Given the description of an element on the screen output the (x, y) to click on. 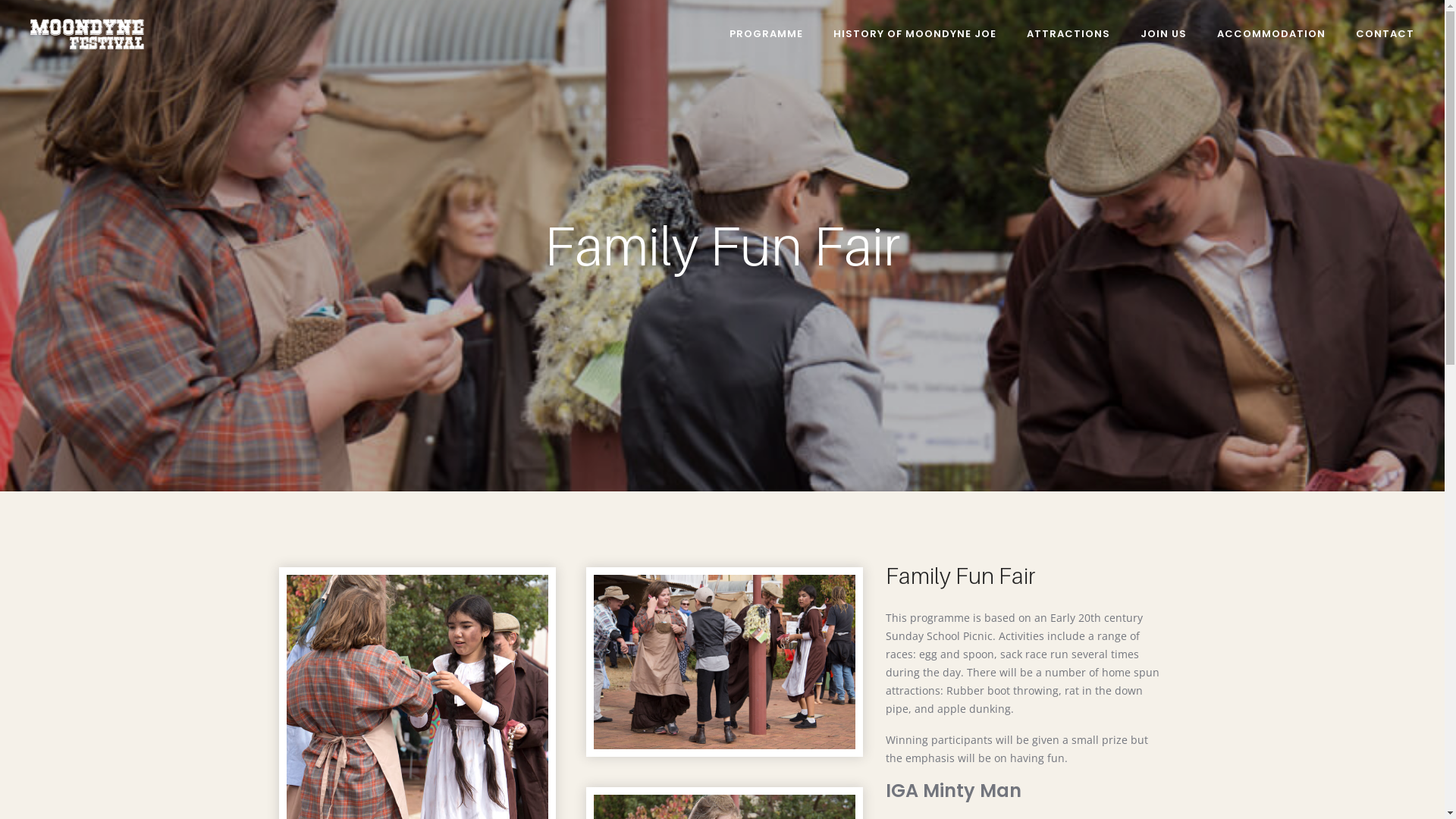
CONTACT Element type: text (1377, 34)
JOIN US Element type: text (1163, 34)
Which team will win? Element type: hover (723, 661)
Moondyne Festival Element type: hover (87, 33)
HISTORY OF MOONDYNE JOE Element type: text (914, 34)
ACCOMMODATION Element type: text (1270, 34)
ATTRACTIONS Element type: text (1068, 34)
PROGRAMME Element type: text (766, 34)
